Given the description of an element on the screen output the (x, y) to click on. 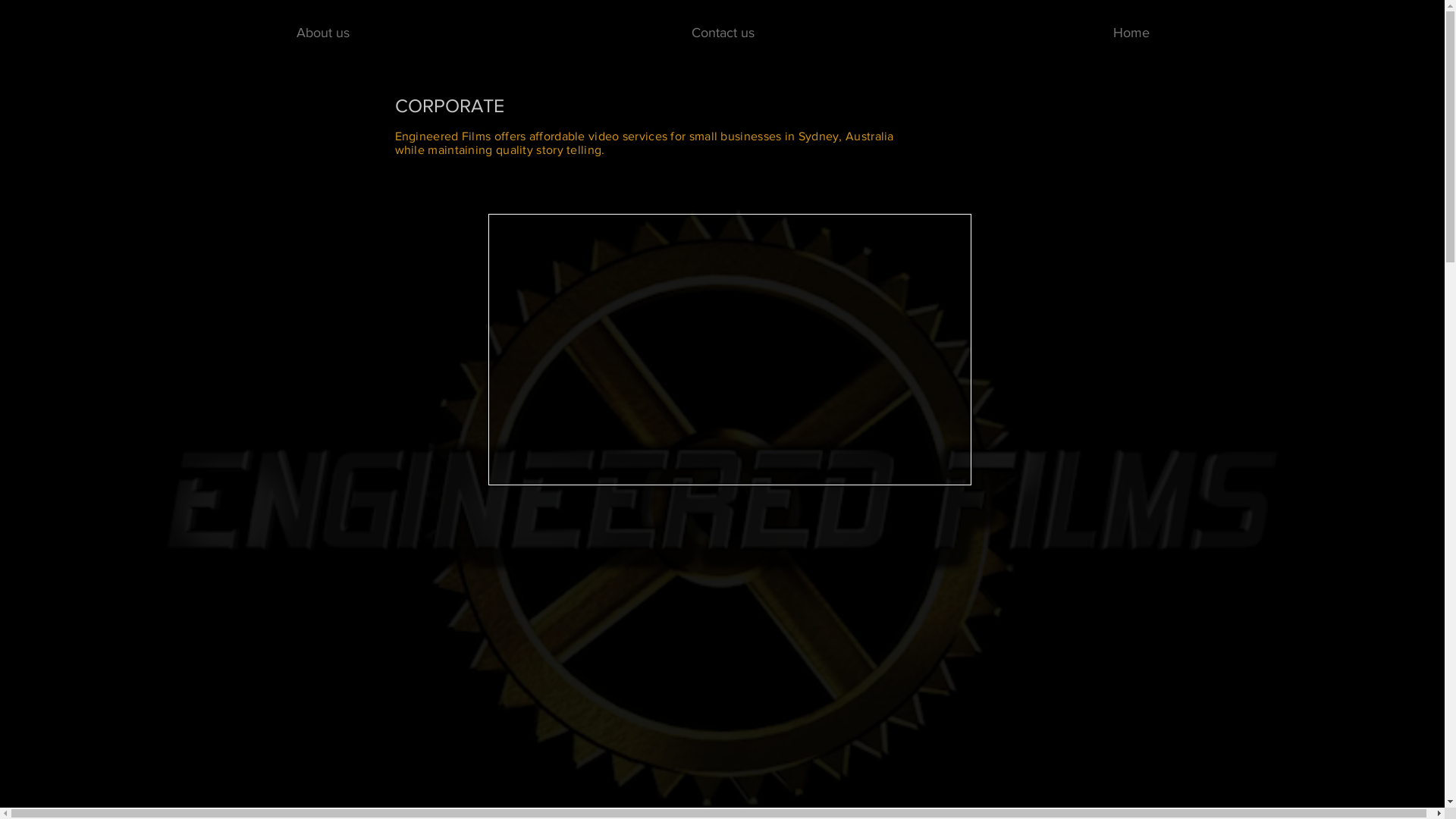
About us Element type: text (322, 33)
Home Element type: text (1130, 33)
Contact us Element type: text (722, 33)
